Given the description of an element on the screen output the (x, y) to click on. 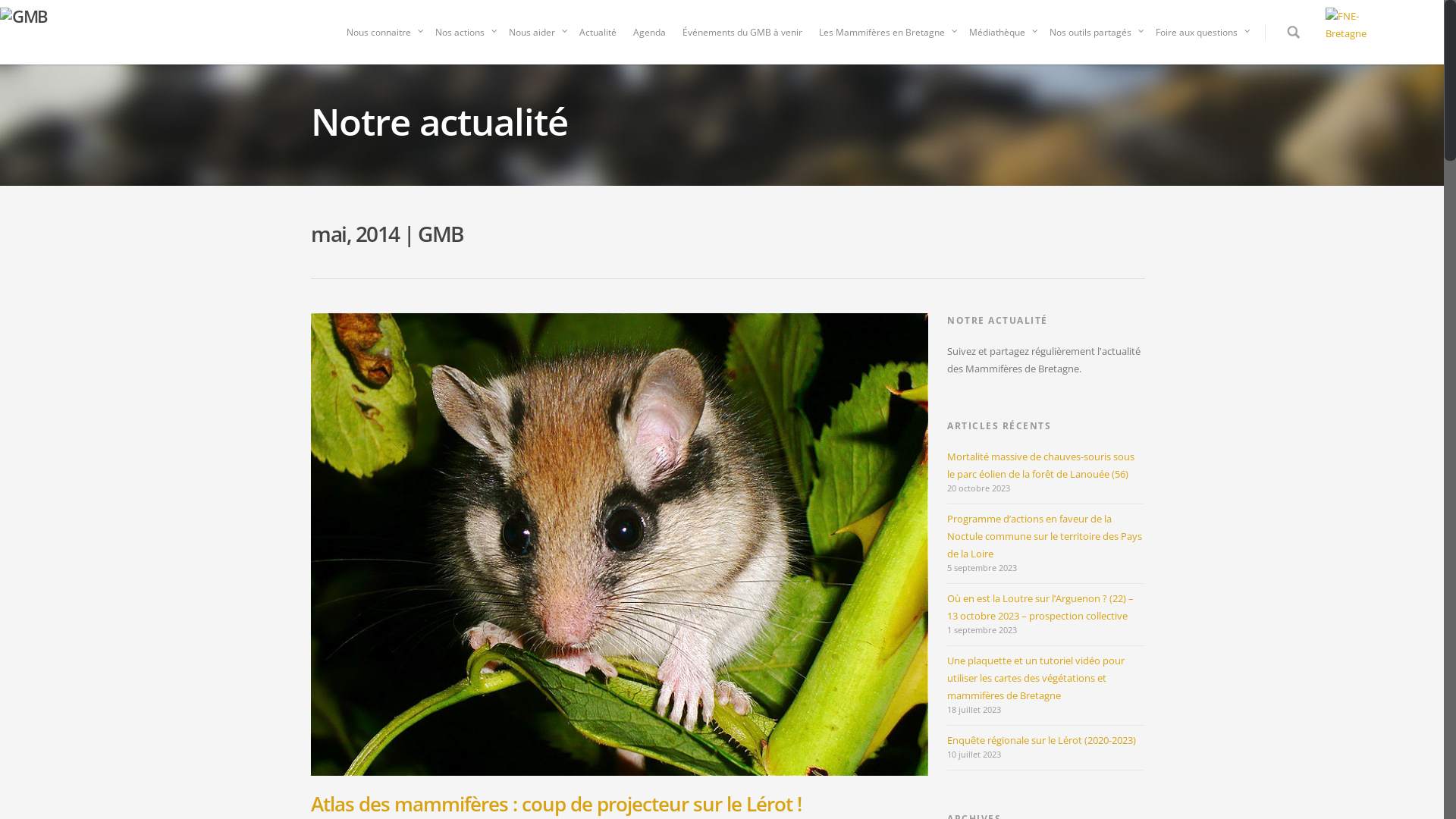
Foire aux questions Element type: text (1200, 35)
Agenda Element type: text (649, 35)
Nous connaitre Element type: text (382, 35)
Nous aider Element type: text (535, 35)
Nos actions Element type: text (463, 35)
FNE-Bretagne Element type: hover (1361, 30)
